Given the description of an element on the screen output the (x, y) to click on. 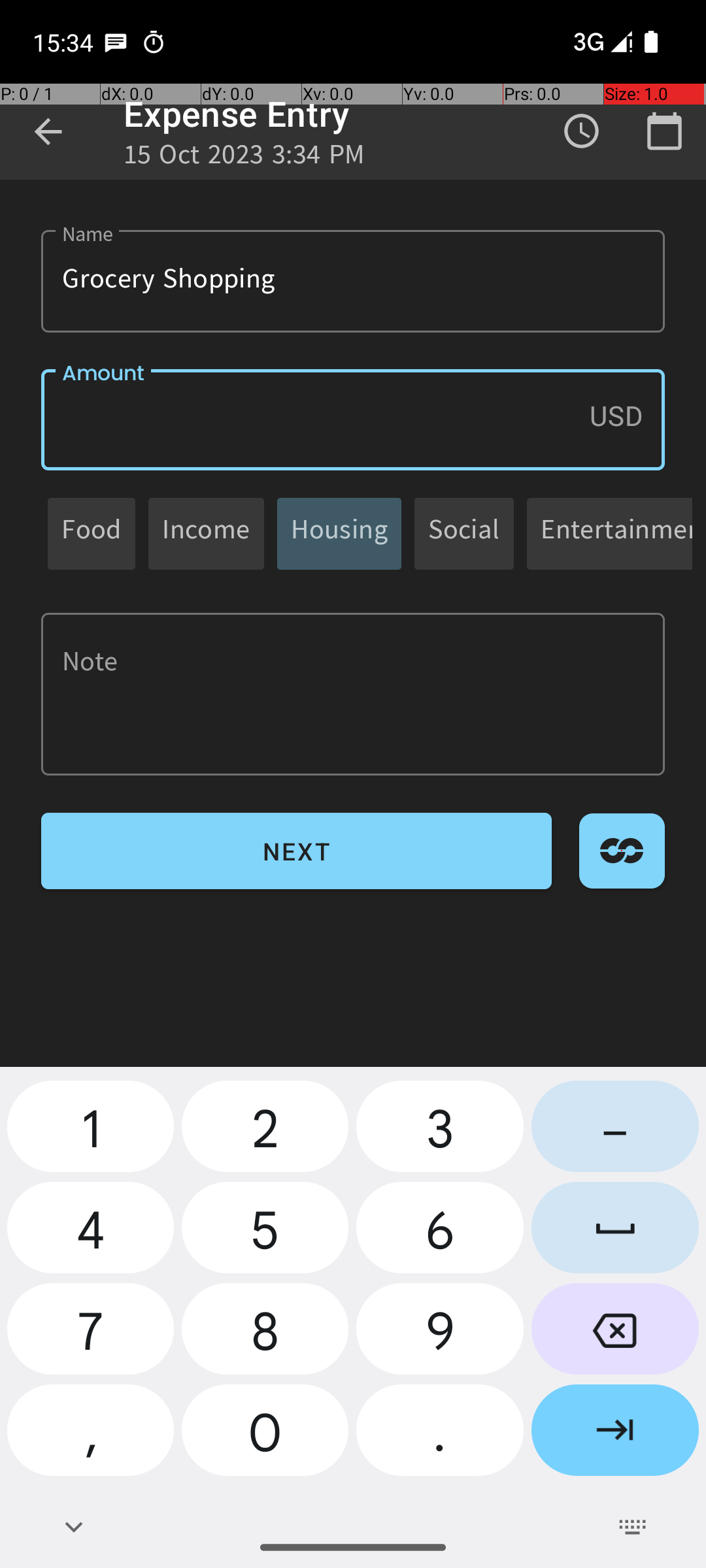
SMS Messenger notification: Sophie Gonzalez Element type: android.widget.ImageView (115, 41)
